Given the description of an element on the screen output the (x, y) to click on. 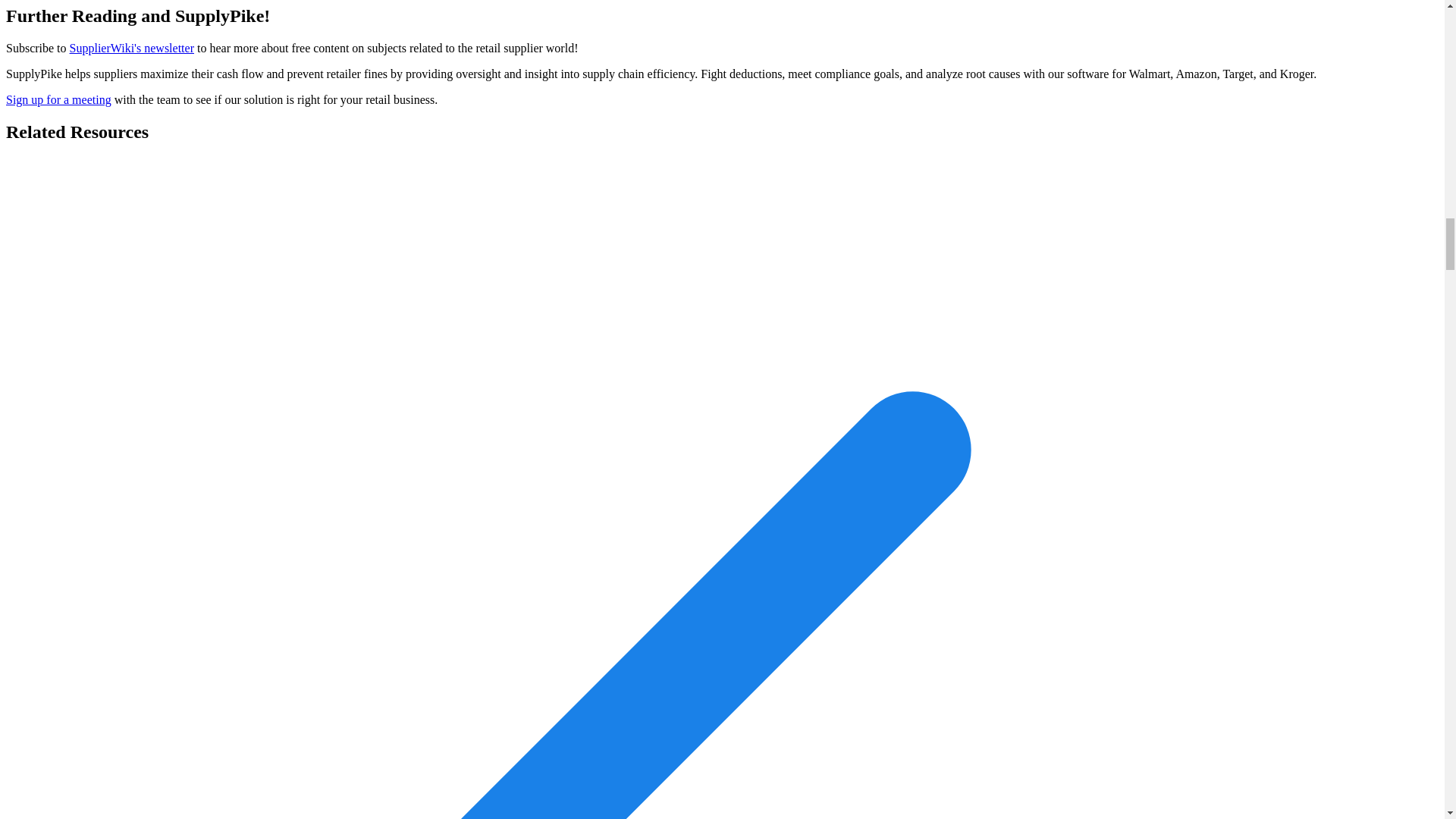
Sign up for a meeting (58, 99)
SupplierWiki's newsletter (131, 47)
